Given the description of an element on the screen output the (x, y) to click on. 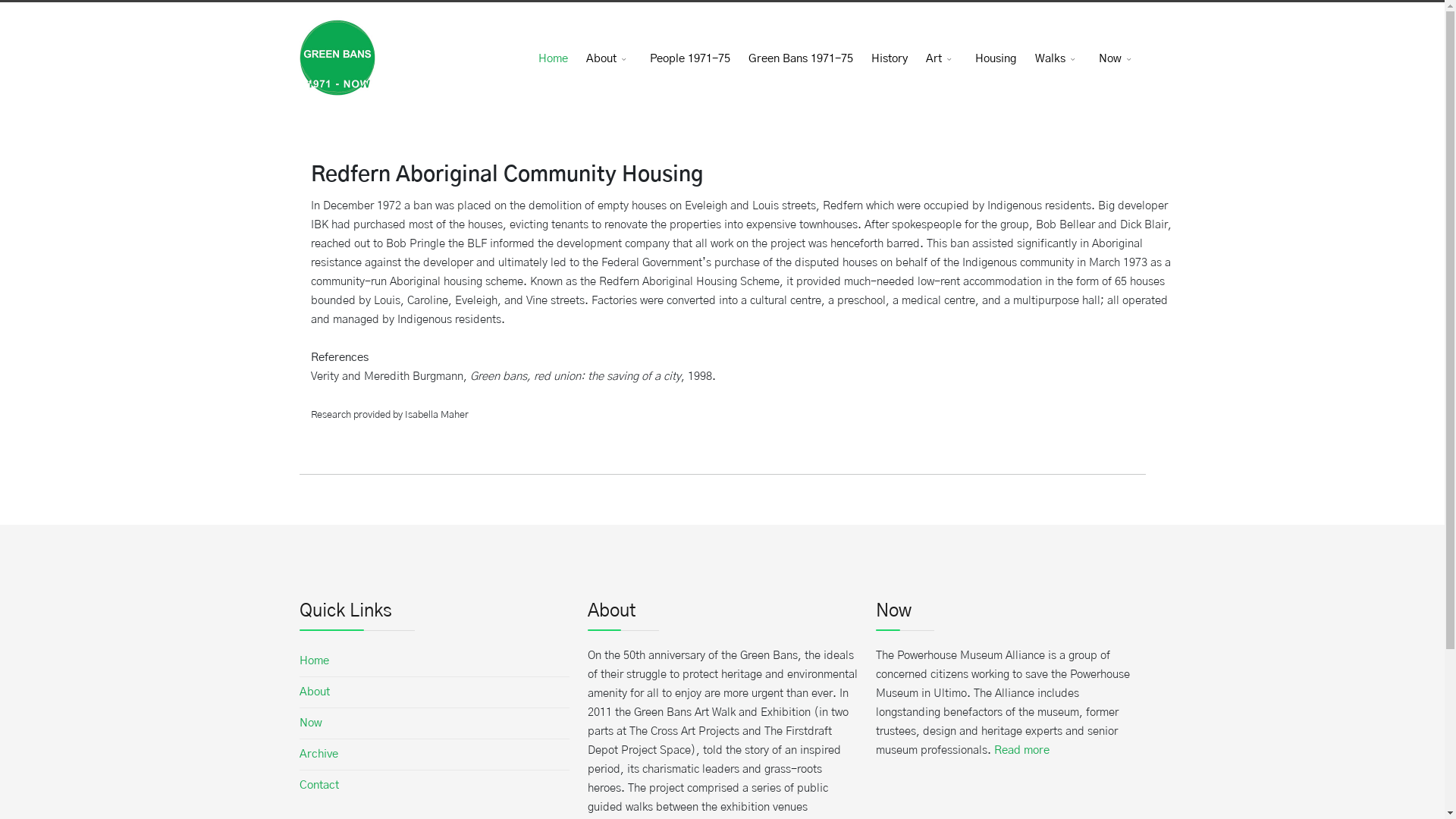
Walks Element type: text (1056, 59)
Now Element type: text (1116, 59)
About Element type: text (608, 59)
Contact Element type: text (433, 785)
Read more Element type: text (1020, 750)
History Element type: text (888, 59)
Home Element type: text (433, 661)
Archive Element type: text (433, 754)
Now Element type: text (433, 723)
Housing Element type: text (996, 59)
About Element type: text (433, 692)
Green Bans 1971-75 Element type: text (799, 59)
Home Element type: text (553, 59)
People 1971-75 Element type: text (689, 59)
Art Element type: text (940, 59)
